Given the description of an element on the screen output the (x, y) to click on. 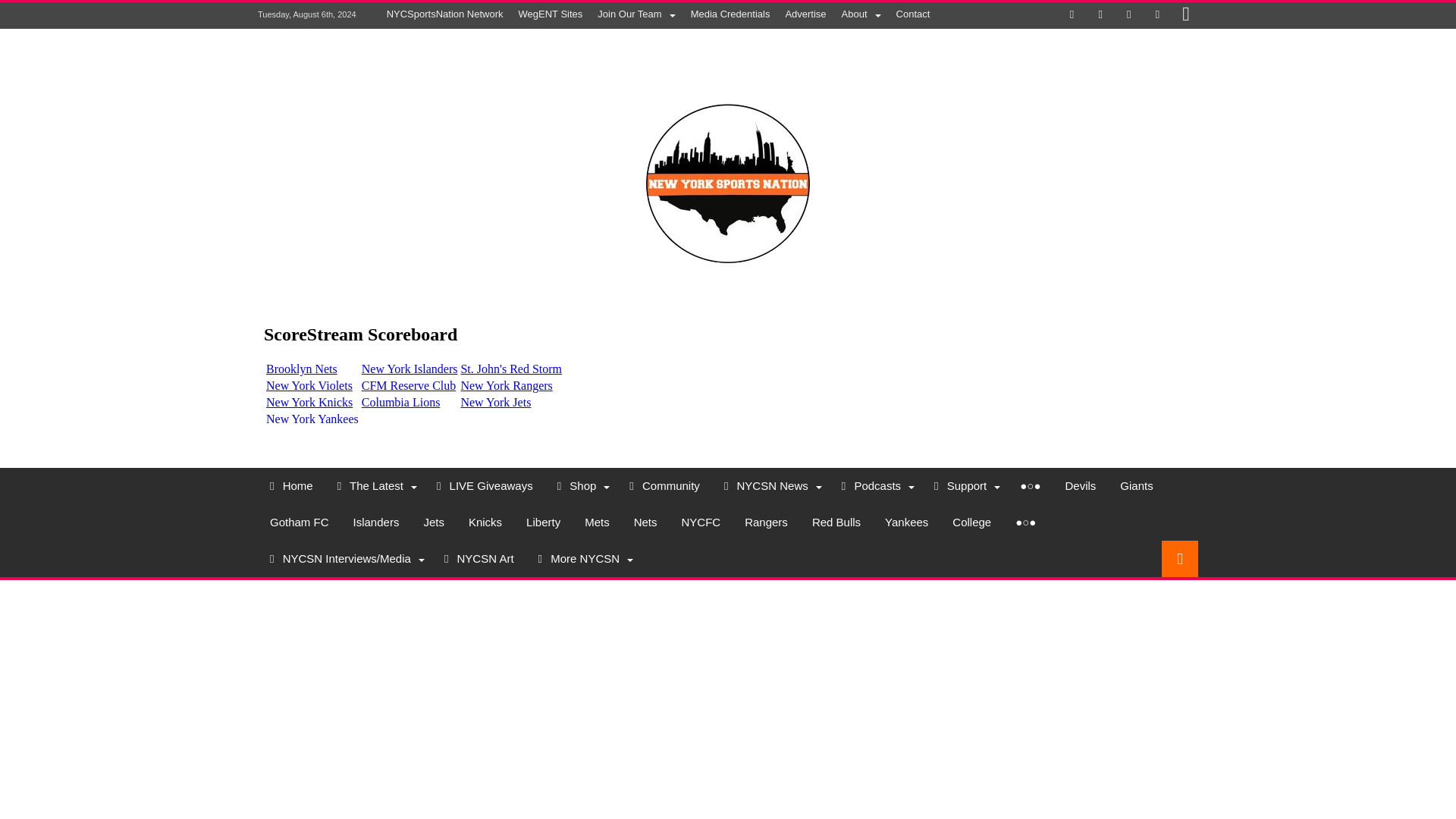
Youtube (1156, 15)
Realtime sports scoreboard widget (727, 366)
Home (290, 485)
NYCSportsNation Network (444, 14)
Community (664, 485)
Media Credentials (729, 14)
Twitter (1099, 15)
Advertise (804, 14)
WegENT Sites (551, 14)
About (861, 14)
Facebook (1071, 15)
Support (964, 485)
Podcasts (875, 485)
NYCSN News (770, 485)
